Given the description of an element on the screen output the (x, y) to click on. 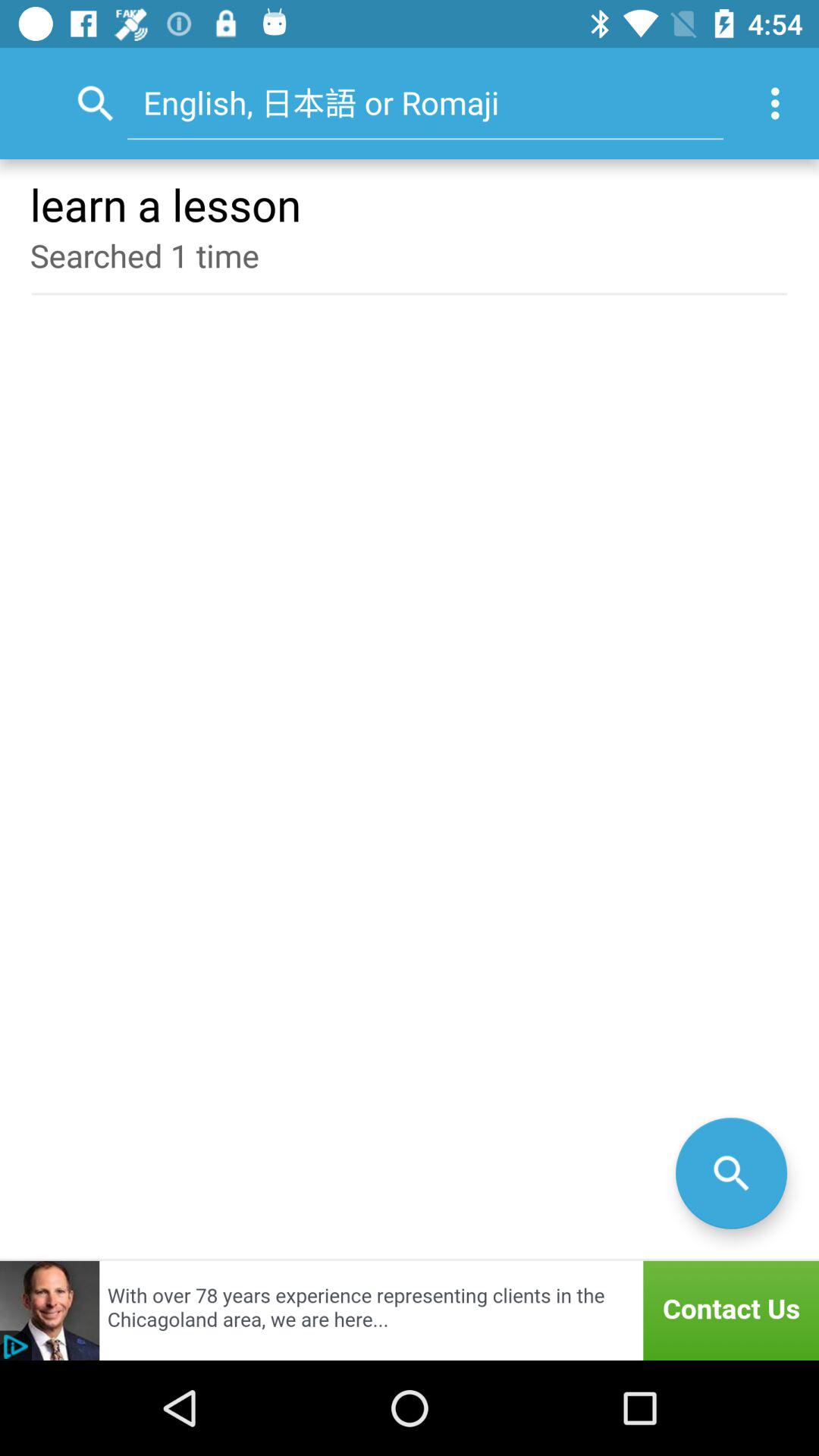
open link (409, 1310)
